Given the description of an element on the screen output the (x, y) to click on. 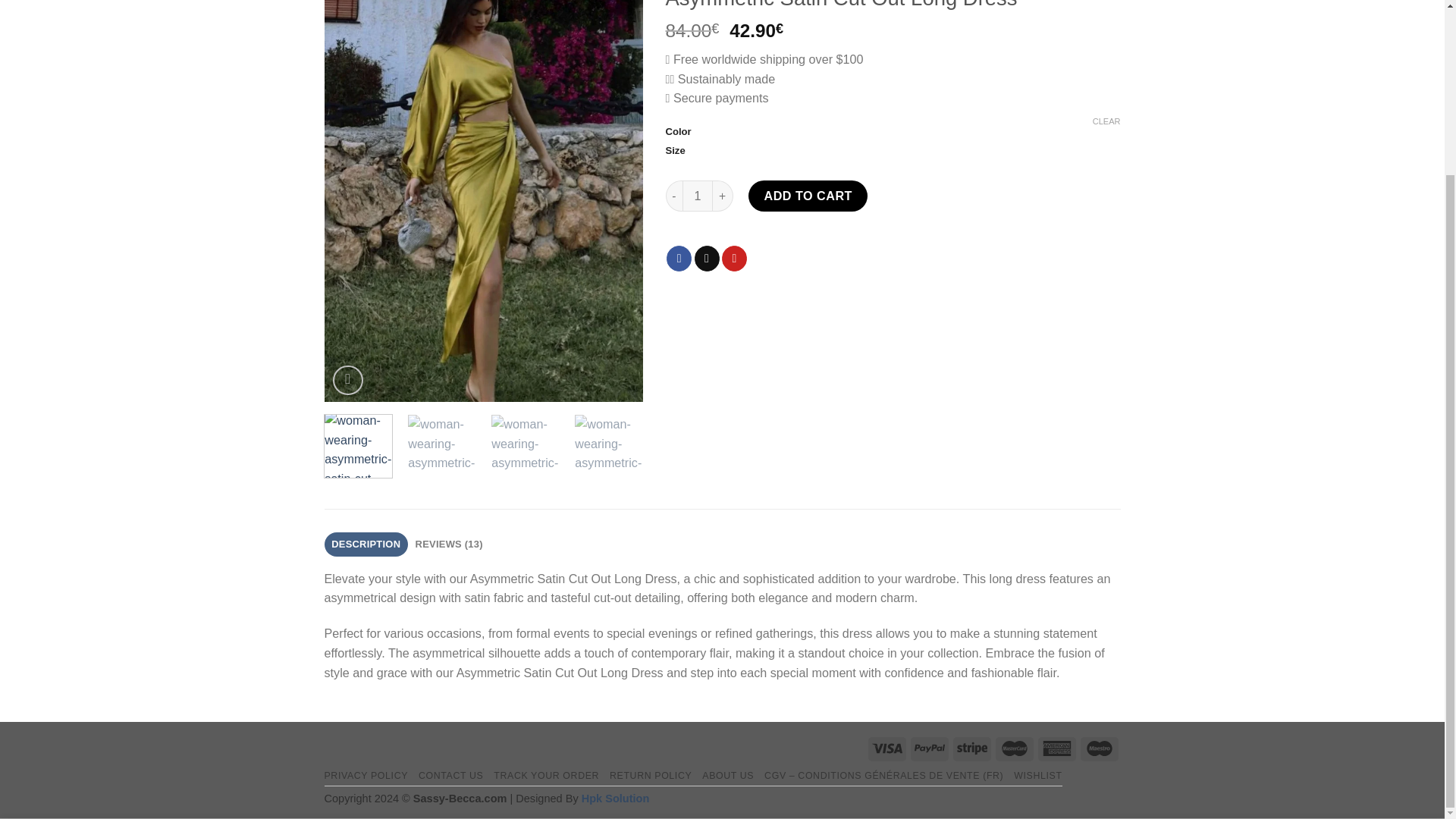
Pin on Pinterest (734, 258)
Zoom (347, 378)
Share on Facebook (678, 258)
1 (697, 195)
Email to a Friend (706, 258)
